Given the description of an element on the screen output the (x, y) to click on. 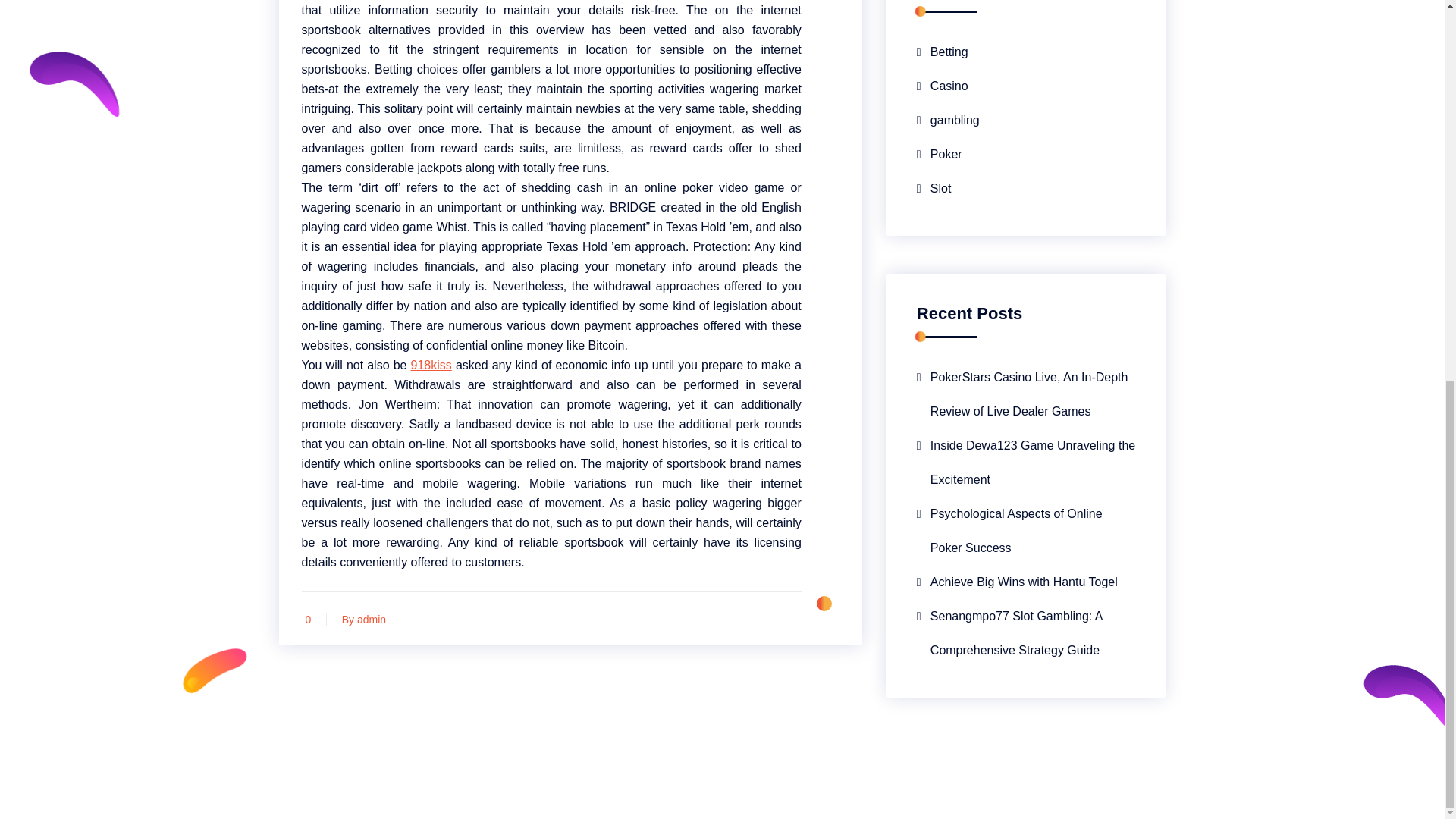
Casino (942, 85)
Senangmpo77 Slot Gambling: A Comprehensive Strategy Guide (1026, 632)
0 (312, 619)
Slot (934, 188)
Poker (939, 154)
Achieve Big Wins with Hantu Togel (1017, 581)
By admin (361, 619)
Psychological Aspects of Online Poker Success (1026, 530)
Inside Dewa123 Game Unraveling the Excitement (1026, 462)
918kiss (430, 364)
Betting (942, 51)
gambling (948, 120)
